Given the description of an element on the screen output the (x, y) to click on. 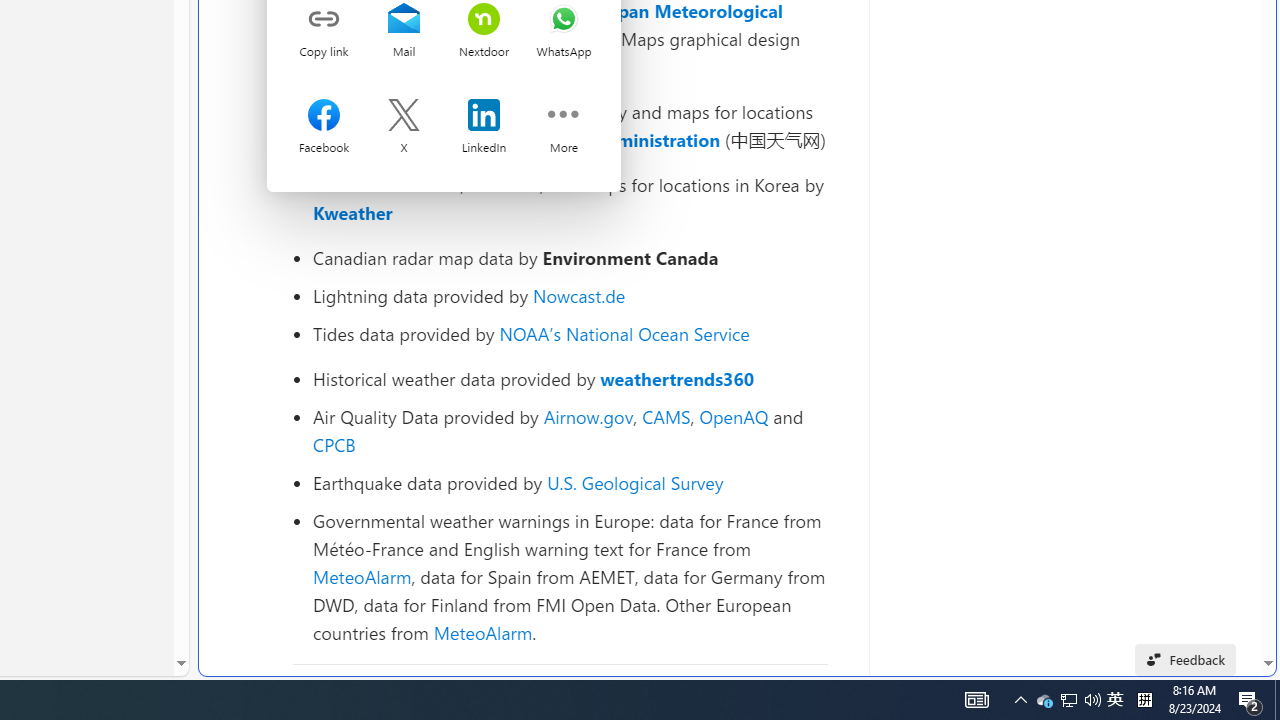
Canadian radar map data by Environment Canada (570, 258)
U.S. Geological Survey (635, 482)
Kweather (352, 212)
CAMS (666, 416)
weathertrends360 (677, 378)
CPCB (334, 444)
Share on facebook (324, 117)
Airnow.gov (587, 416)
Share on whatsapp (563, 20)
China Meteorological Administration (562, 139)
Historical weather data provided by weathertrends360 (570, 379)
